Given the description of an element on the screen output the (x, y) to click on. 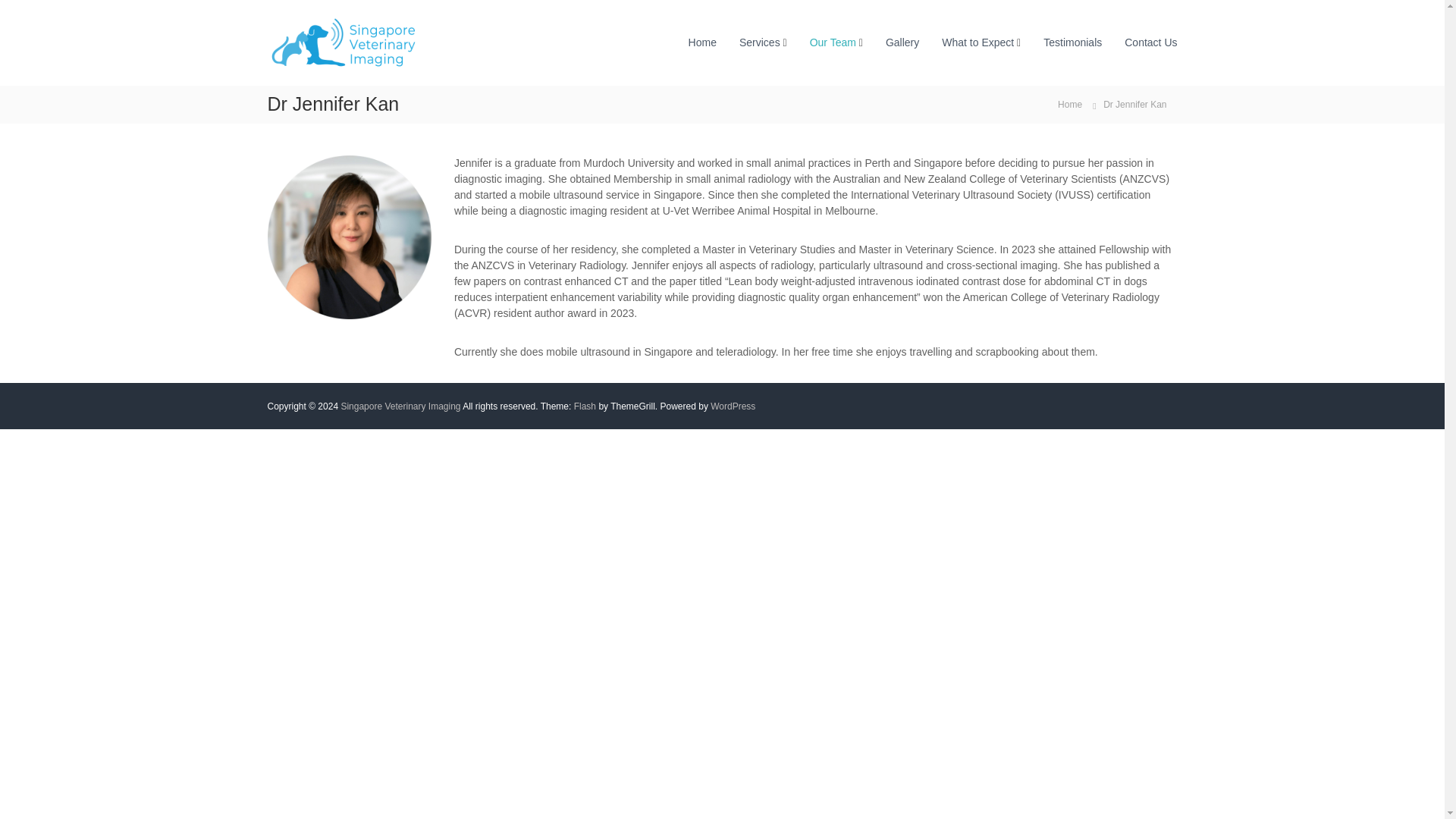
Home (702, 42)
Gallery (901, 42)
Home (1069, 103)
Our Team (832, 42)
Flash (584, 405)
Contact Us (1150, 42)
Services (759, 42)
WordPress (732, 405)
Home (1069, 103)
Testimonials (1072, 42)
Singapore Veterinary Imaging (400, 405)
What to Expect (977, 42)
